Given the description of an element on the screen output the (x, y) to click on. 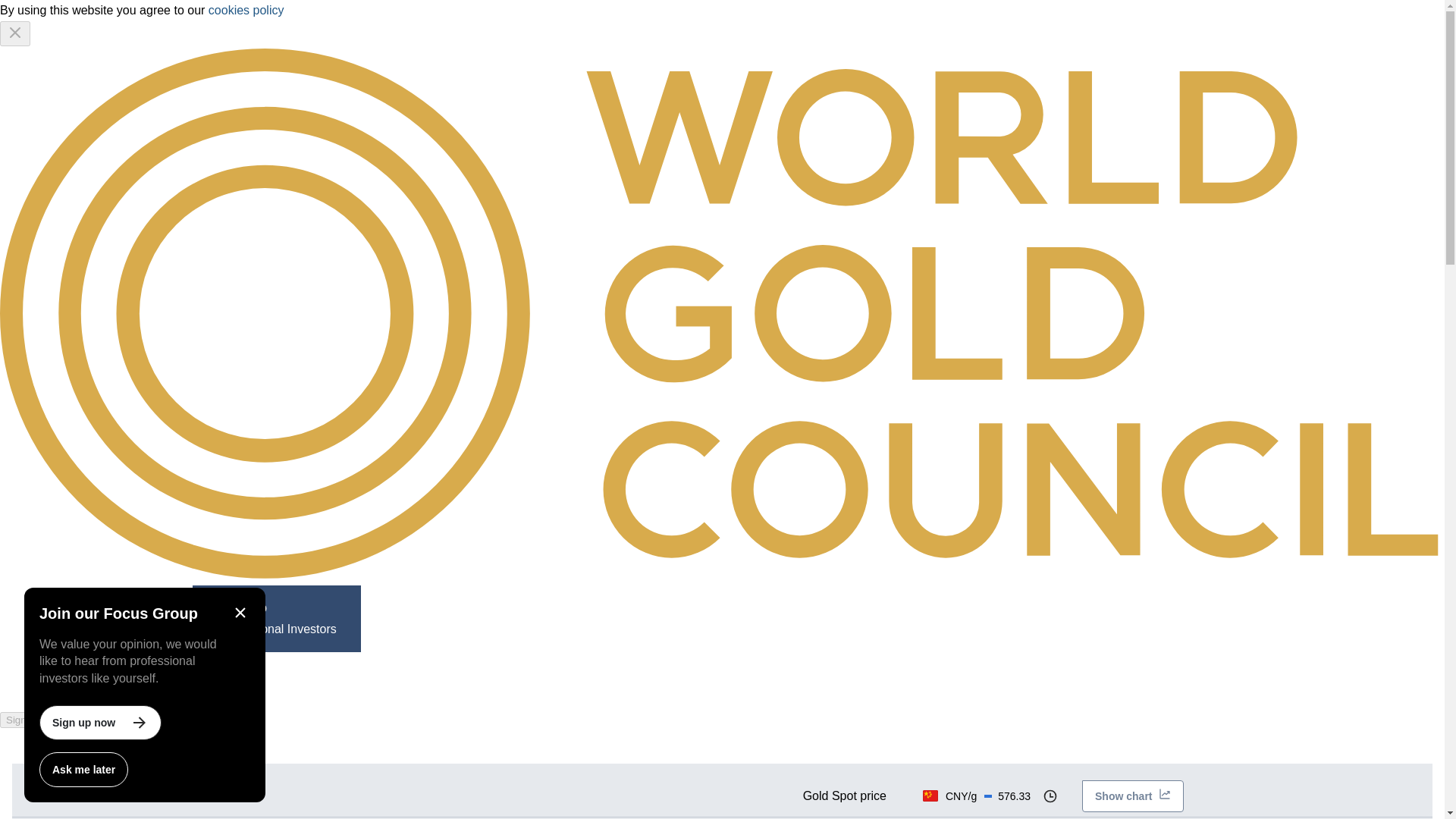
Gold Spot price (844, 795)
Show chart (1131, 796)
Research (87, 752)
cookies policy (245, 10)
Global (440, 618)
Social commentary about gold (48, 693)
Insights (370, 752)
